Given the description of an element on the screen output the (x, y) to click on. 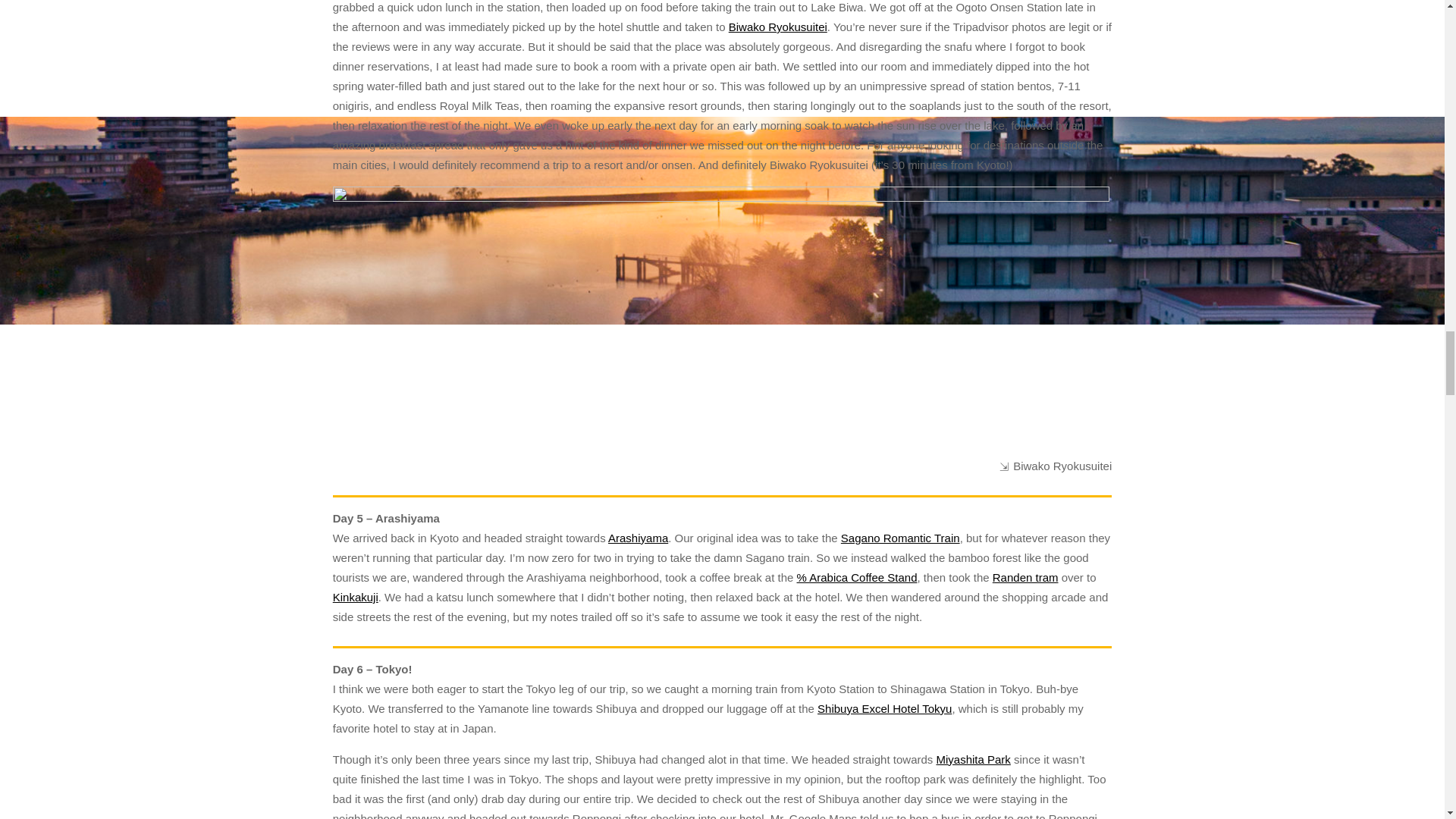
Biwako Ryokusuitei (778, 26)
Shibuya Excel Hotel Tokyu (884, 707)
Randen tram (1025, 576)
Arashiyama (638, 537)
Miyashita Park (973, 758)
Kinkakuji (355, 596)
Sagano Romantic Train (900, 537)
